Given the description of an element on the screen output the (x, y) to click on. 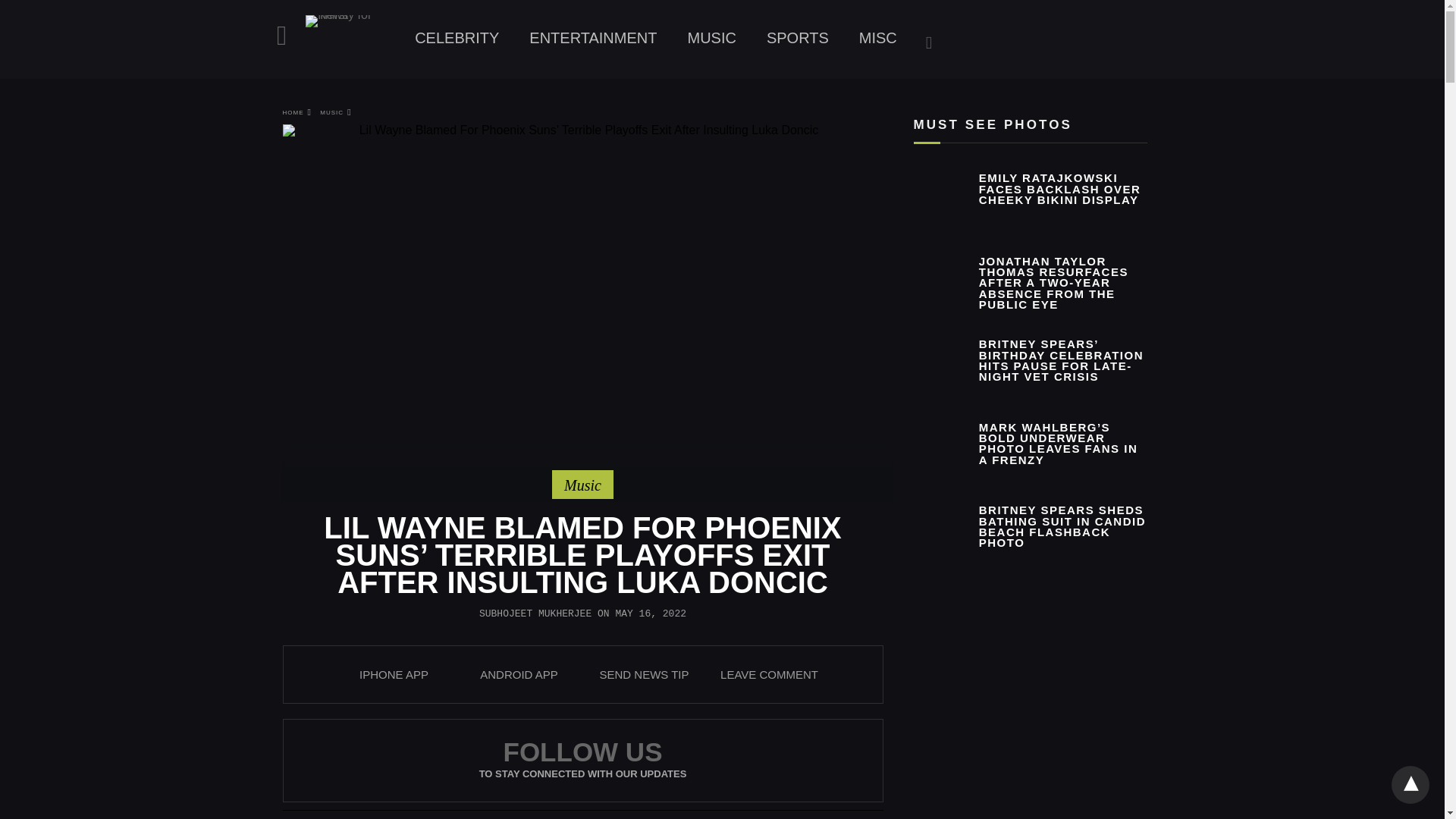
IPHONE APP (393, 674)
Celebrity News (455, 37)
Music (582, 484)
ANDROID APP (518, 674)
SEND NEWS TIP (643, 674)
LEAVE COMMENT (769, 674)
MUSIC (335, 112)
Thirsty for News (351, 41)
HOME (296, 112)
Sports News (797, 37)
